Given the description of an element on the screen output the (x, y) to click on. 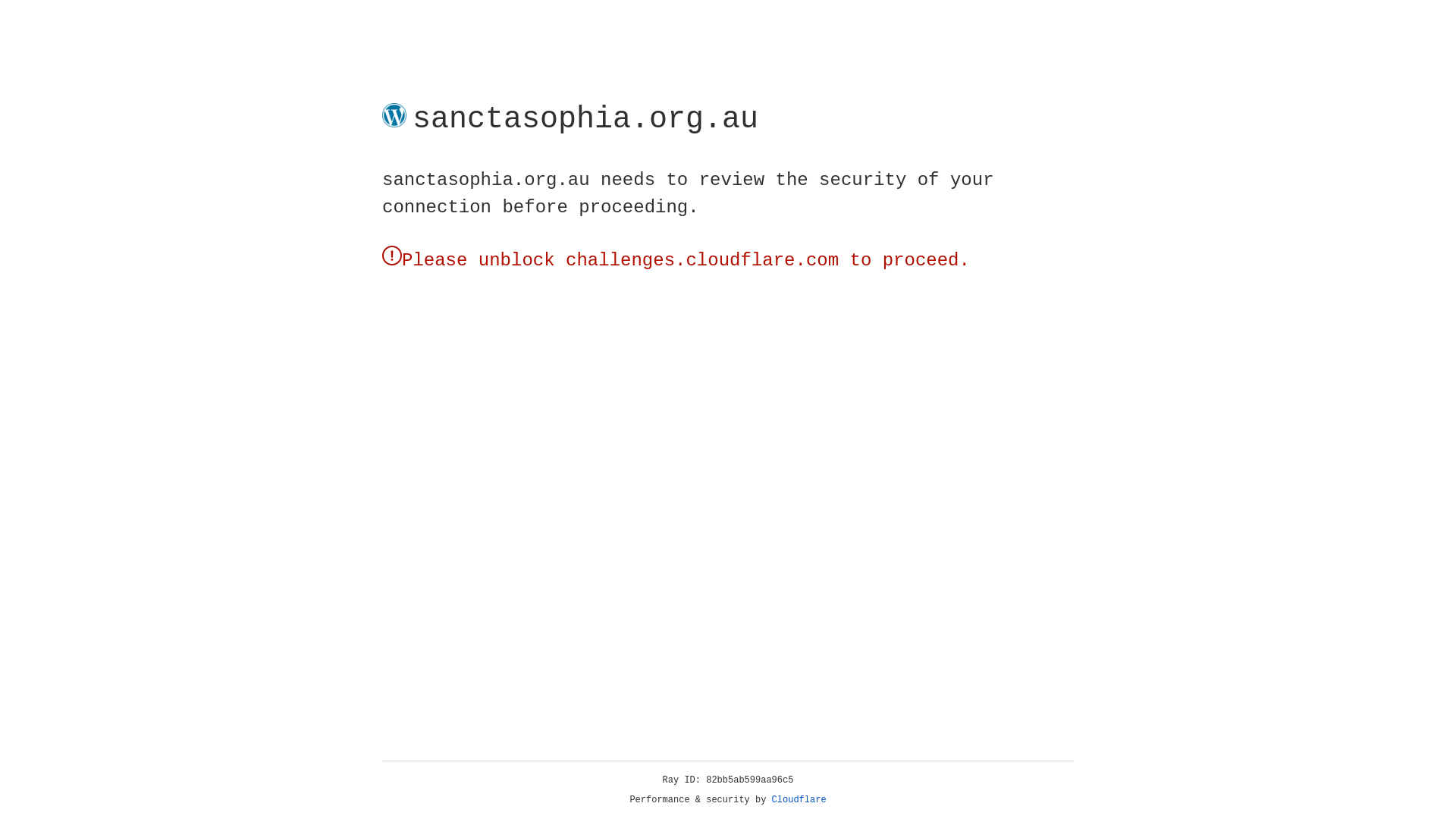
Cloudflare Element type: text (798, 799)
